Given the description of an element on the screen output the (x, y) to click on. 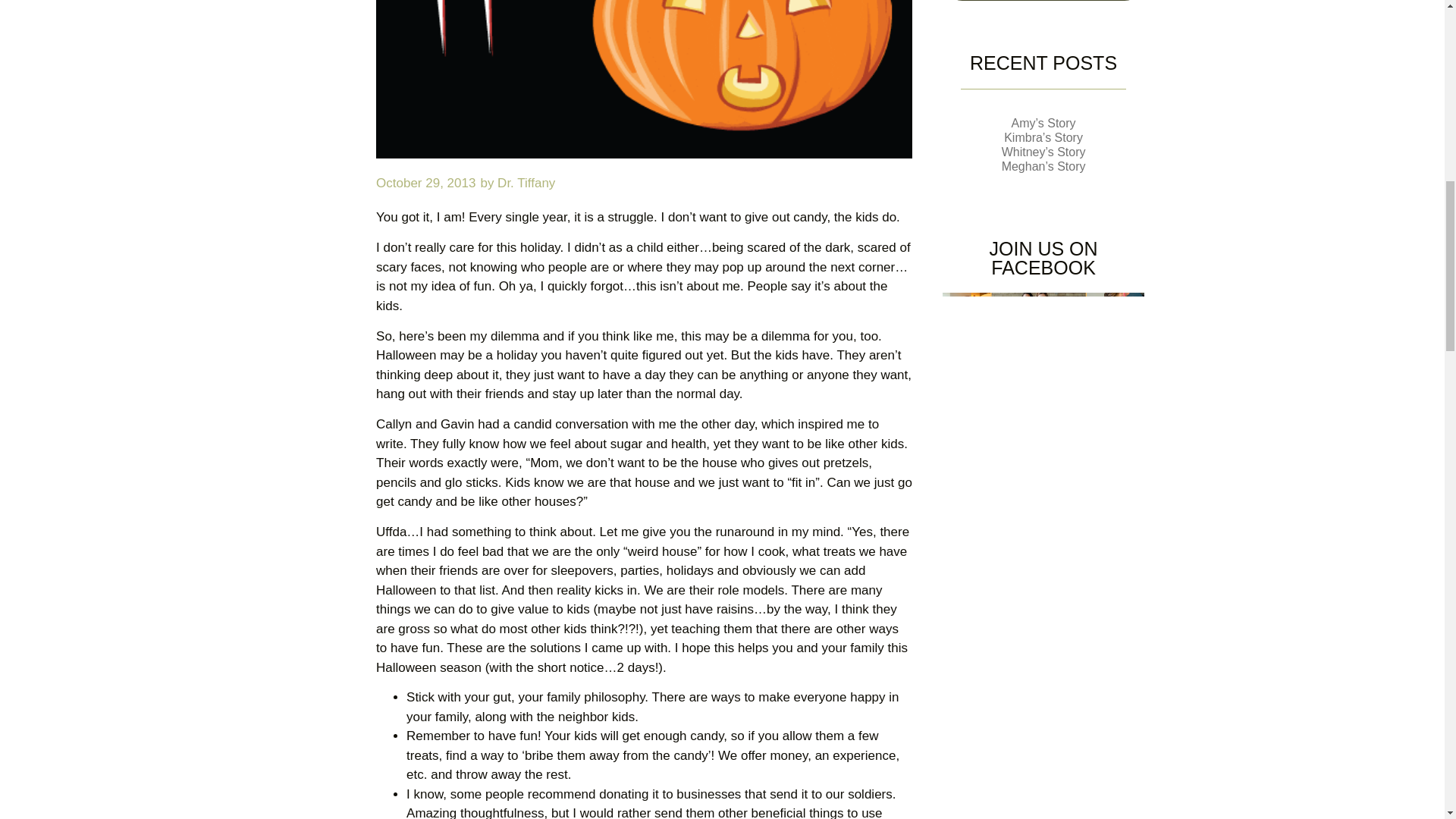
by Dr. Tiffany (517, 183)
October 29, 2013 (425, 183)
